Given the description of an element on the screen output the (x, y) to click on. 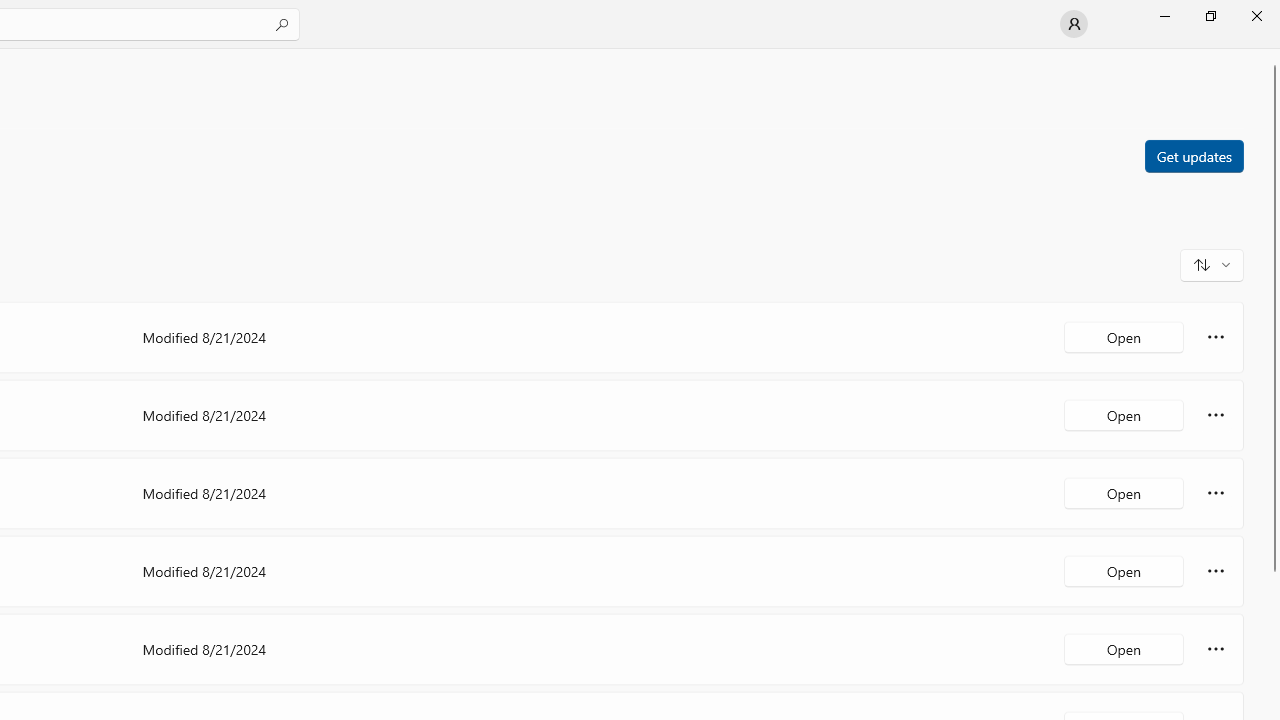
Vertical Small Decrease (1272, 55)
Sort and filter (1212, 263)
Get updates (1193, 155)
Open (1123, 648)
More options (1215, 648)
